Given the description of an element on the screen output the (x, y) to click on. 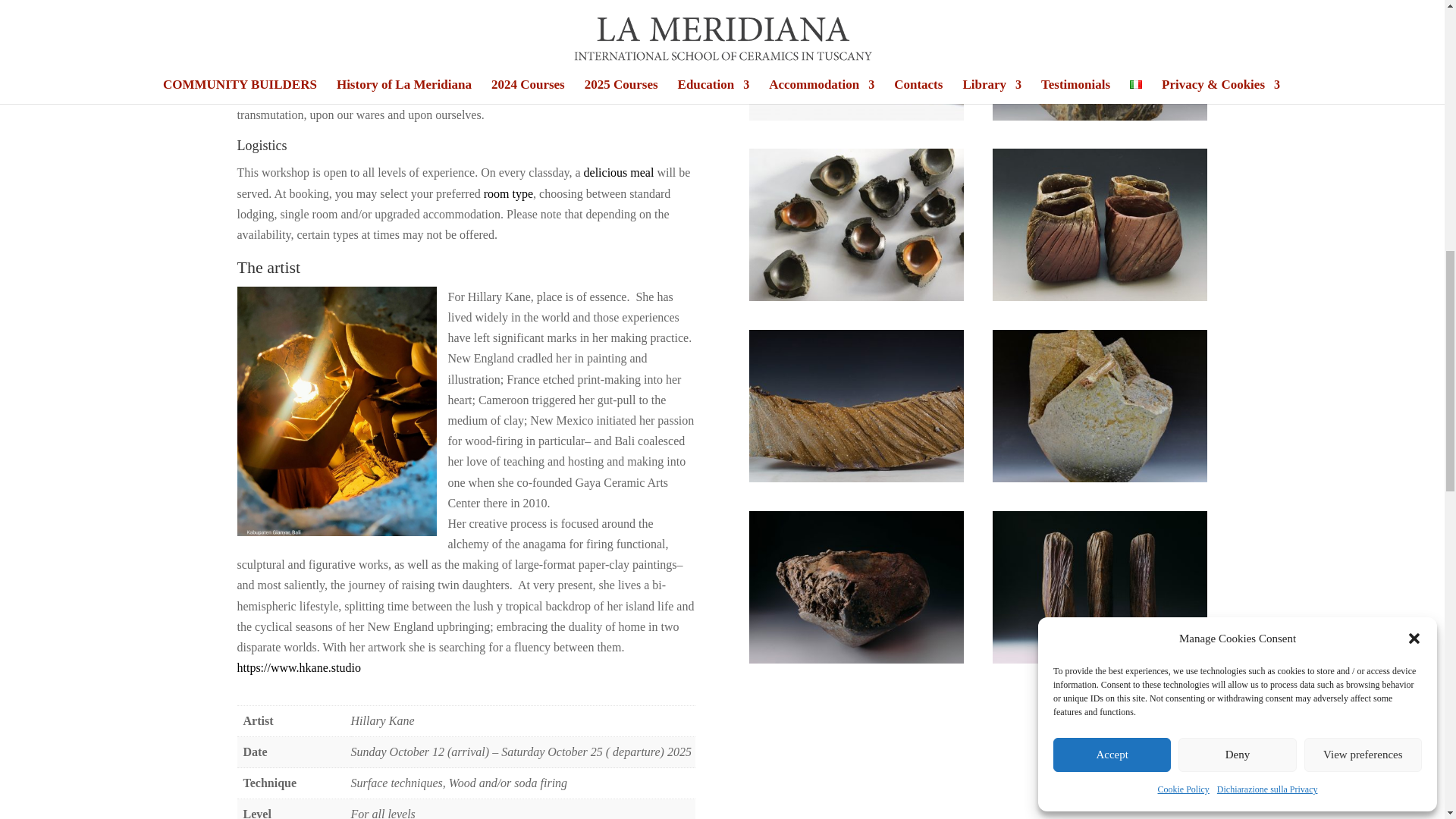
Hillary Kane (856, 477)
Hillary Kane (856, 296)
Hillary Kane (856, 115)
Vase. Hillary Kane (1100, 115)
Hillary Kane. Three vases (1100, 658)
Hillary Kane (856, 658)
Hillary Kane (1100, 296)
Vase by Hillary Kane (1100, 477)
